Given the description of an element on the screen output the (x, y) to click on. 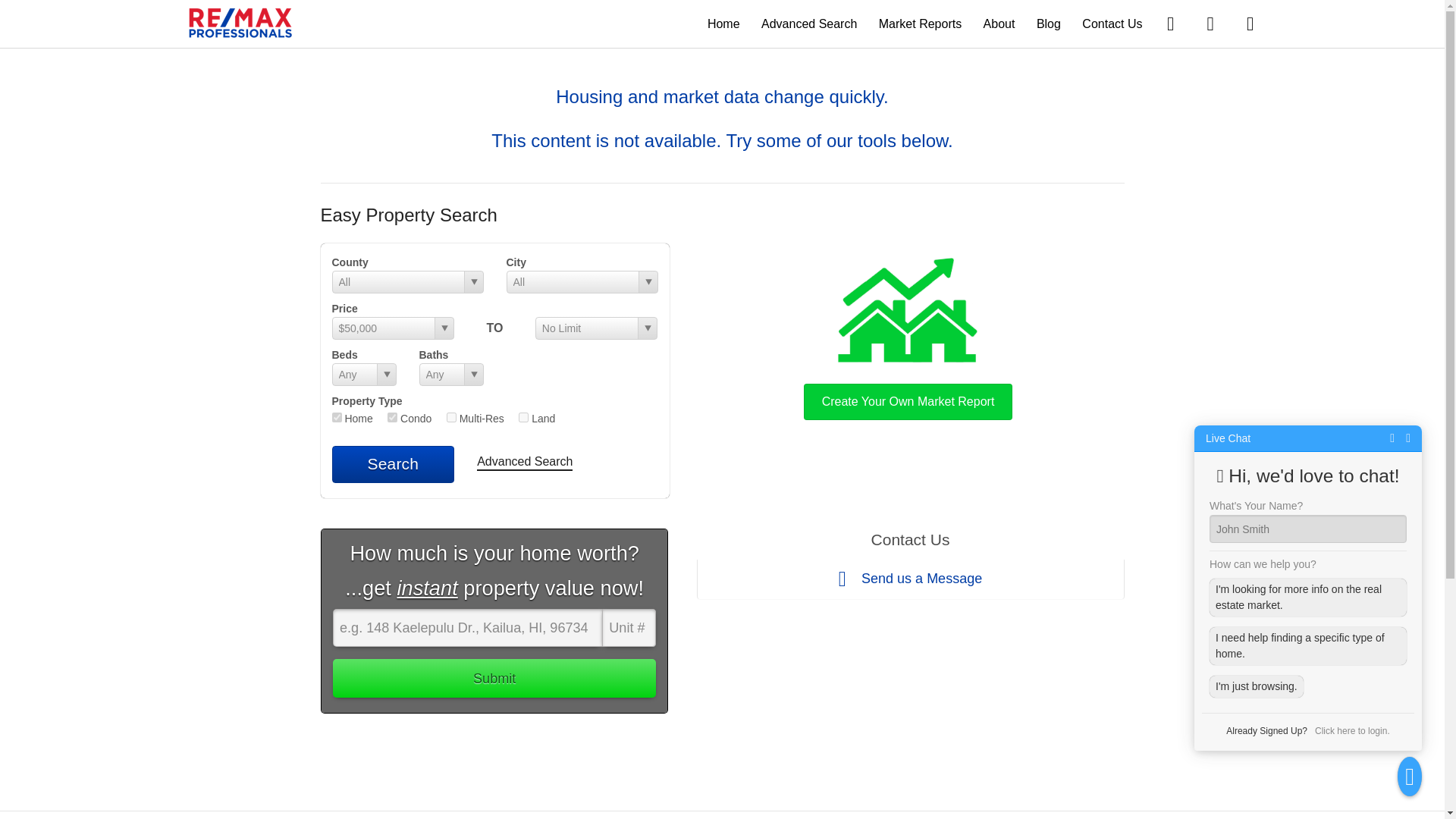
lnd (523, 417)
res (336, 417)
Advanced Search (809, 23)
mul (451, 417)
Create Your Own Market Report (907, 335)
About (999, 23)
Send us a Message (909, 578)
Search (392, 463)
Blog (1048, 23)
Live Chat: undefined (1227, 437)
Market Reports (919, 23)
Search (392, 463)
con (392, 417)
Advanced Search (524, 462)
Contact Us (1111, 23)
